Given the description of an element on the screen output the (x, y) to click on. 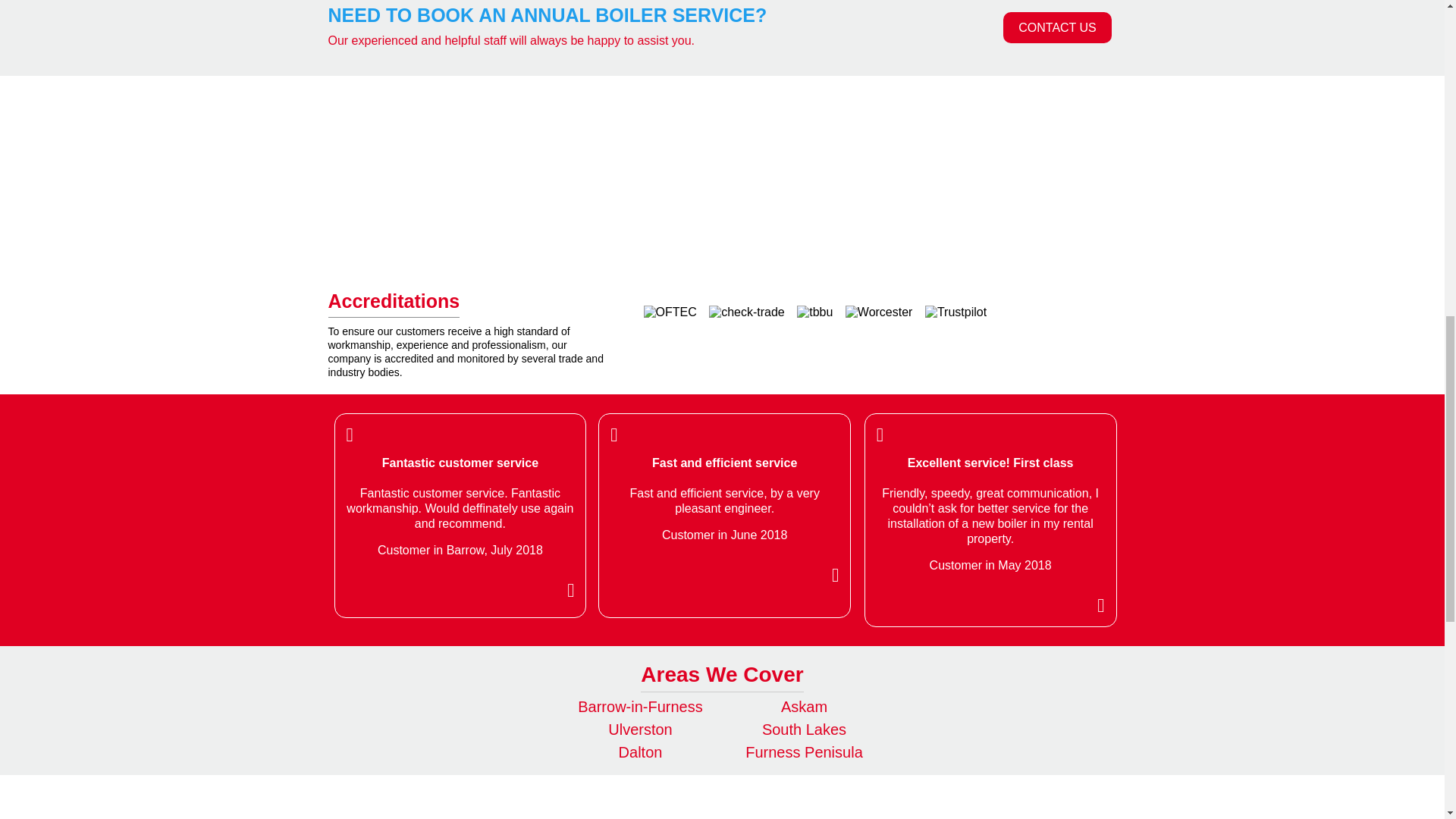
Dalton (640, 751)
South Lakes (803, 729)
Ulverston (639, 729)
Barrow-in-Furness (639, 706)
Furness Penisula (804, 751)
Askam (803, 706)
CONTACT US (1057, 27)
